Given the description of an element on the screen output the (x, y) to click on. 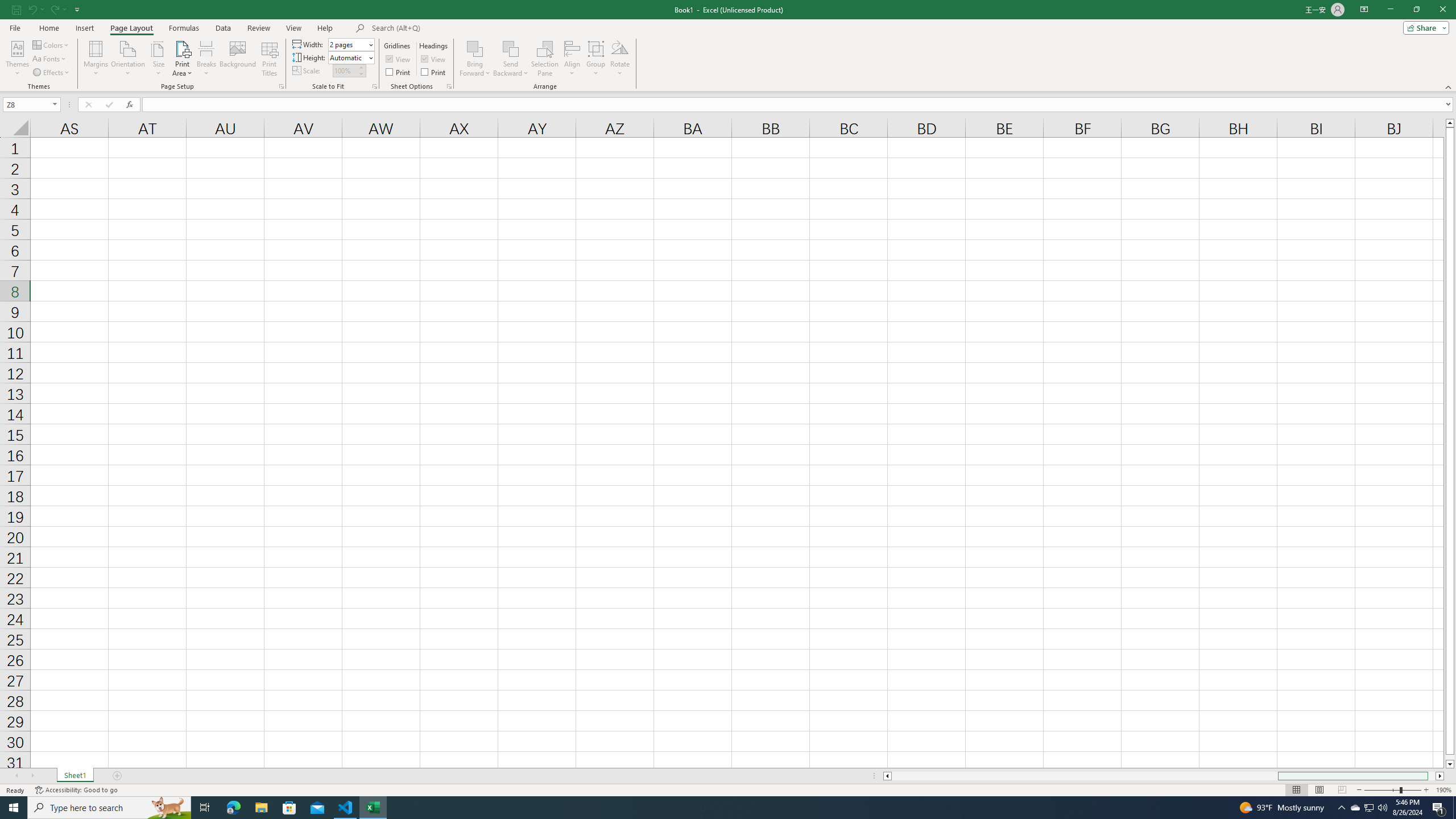
More Options (510, 68)
More (360, 67)
Name Box (30, 104)
Group (595, 58)
Scale (344, 70)
Undo (31, 9)
Line down (1449, 764)
Less (360, 73)
